Given the description of an element on the screen output the (x, y) to click on. 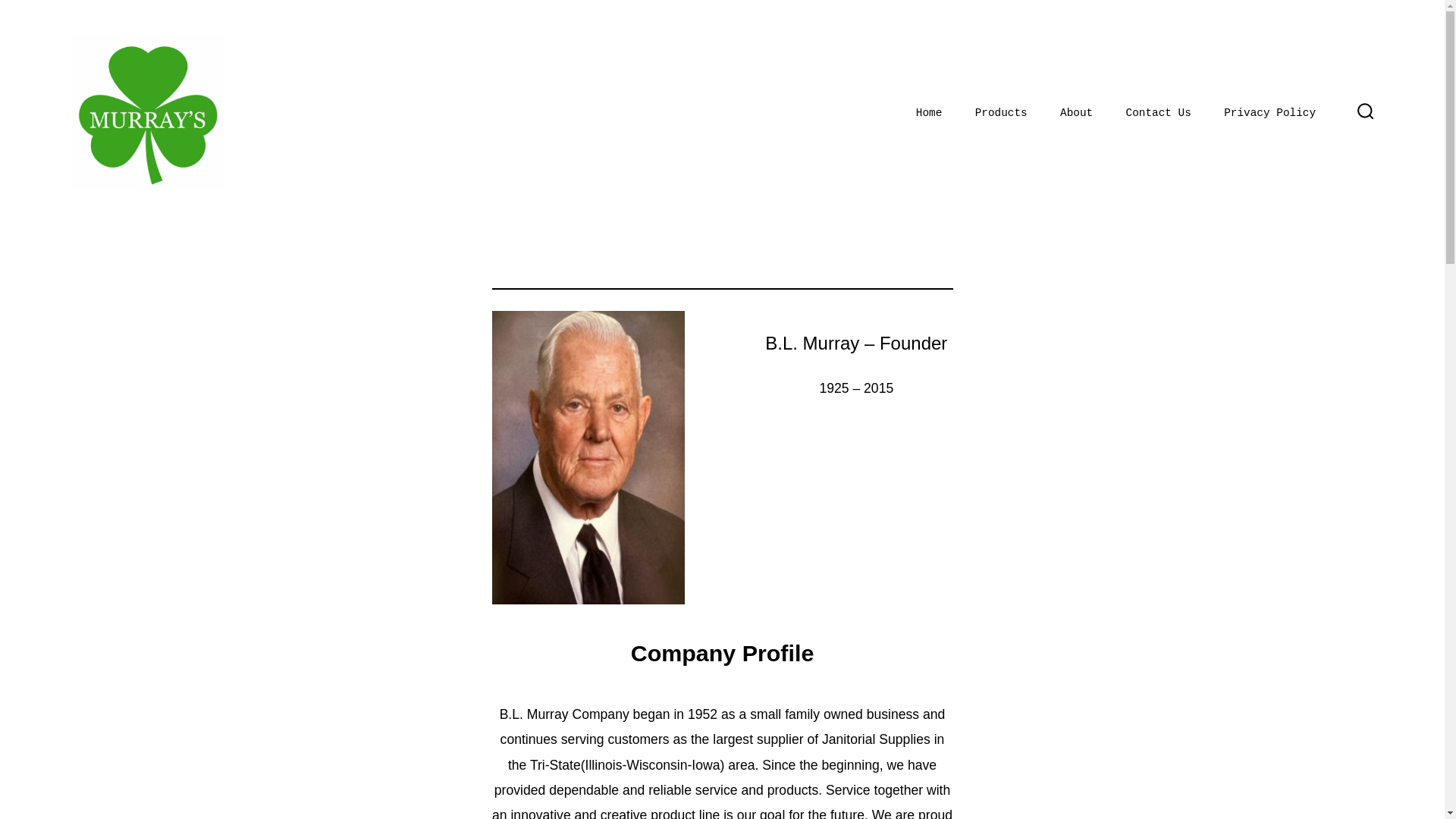
Privacy Policy (1270, 113)
Home (928, 113)
Products (1001, 113)
About (1076, 113)
SEARCH TOGGLE (1365, 112)
Contact Us (1158, 113)
